Given the description of an element on the screen output the (x, y) to click on. 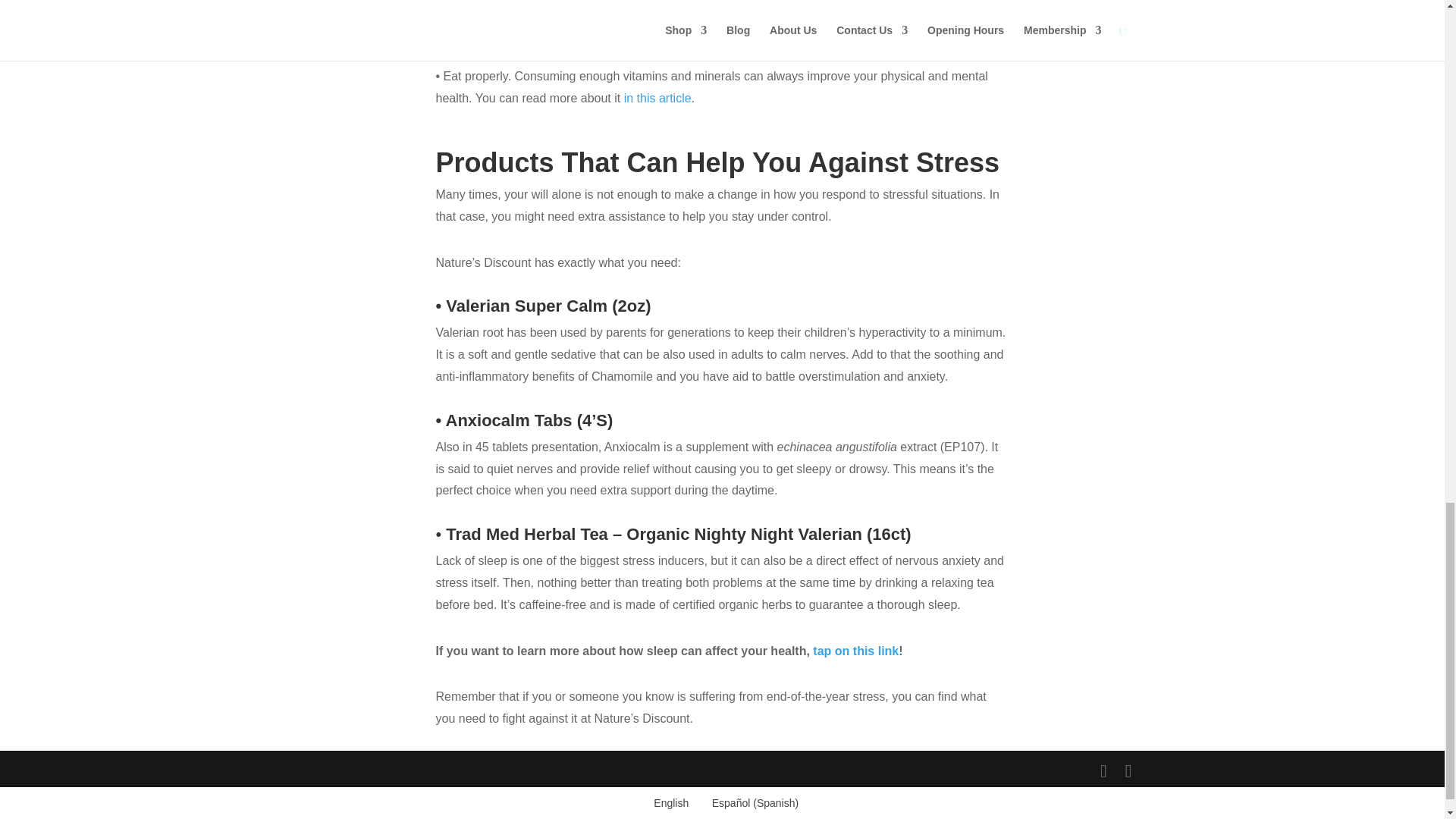
English (667, 803)
in this article (657, 97)
tap on this link (855, 650)
